Given the description of an element on the screen output the (x, y) to click on. 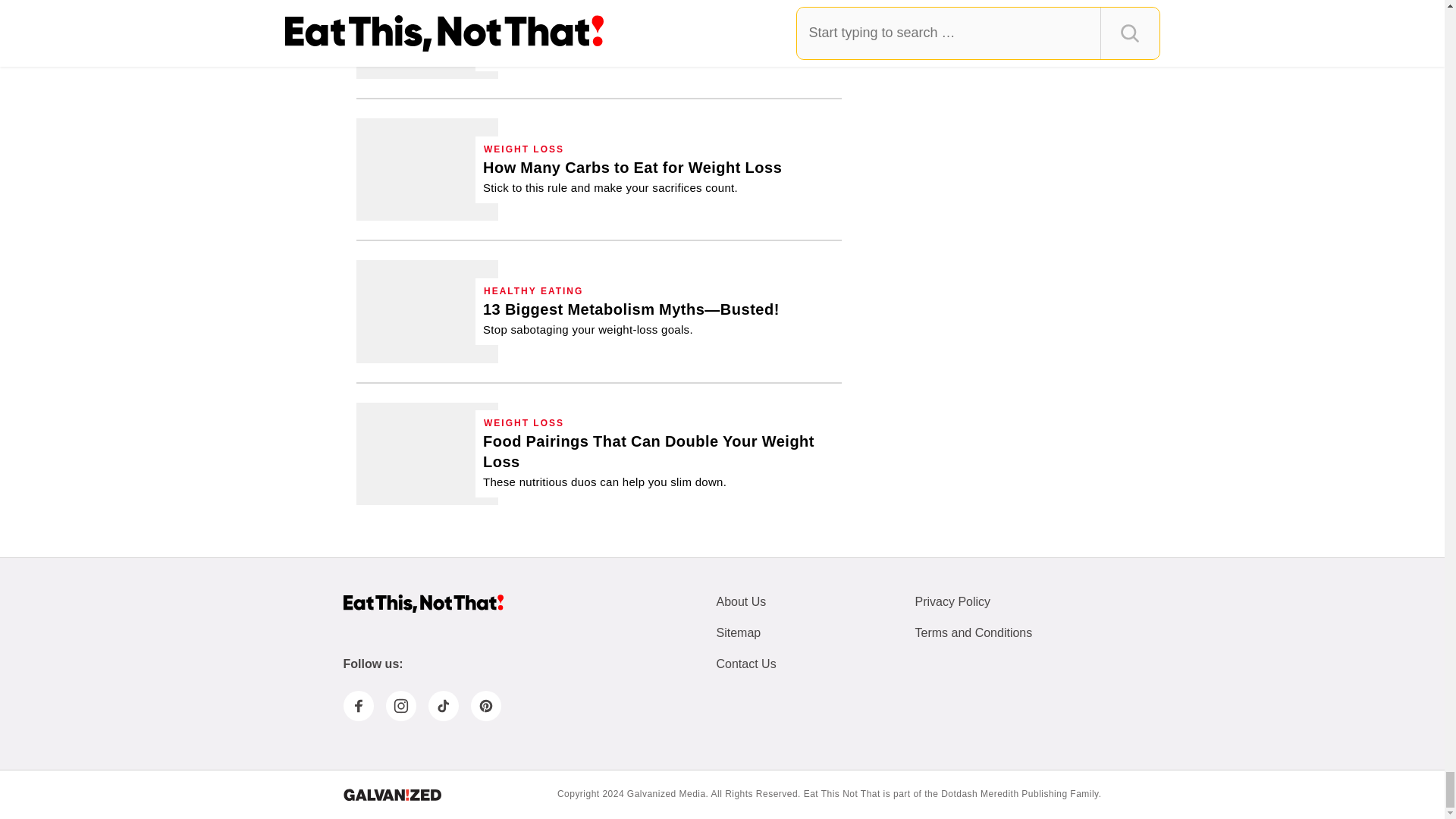
25 Best Food Swaps To Jumpstart Weight Loss (426, 39)
32 Food Pairings That Can Actually Double Your Weight Loss (426, 453)
Here's How Many Carbs You Can Eat a Day to Lose Weight (426, 168)
Here's How Many Carbs You Can Eat a Day to Lose Weight (632, 176)
32 Food Pairings That Can Actually Double Your Weight Loss (658, 460)
25 Best Food Swaps To Jumpstart Weight Loss (658, 33)
